Given the description of an element on the screen output the (x, y) to click on. 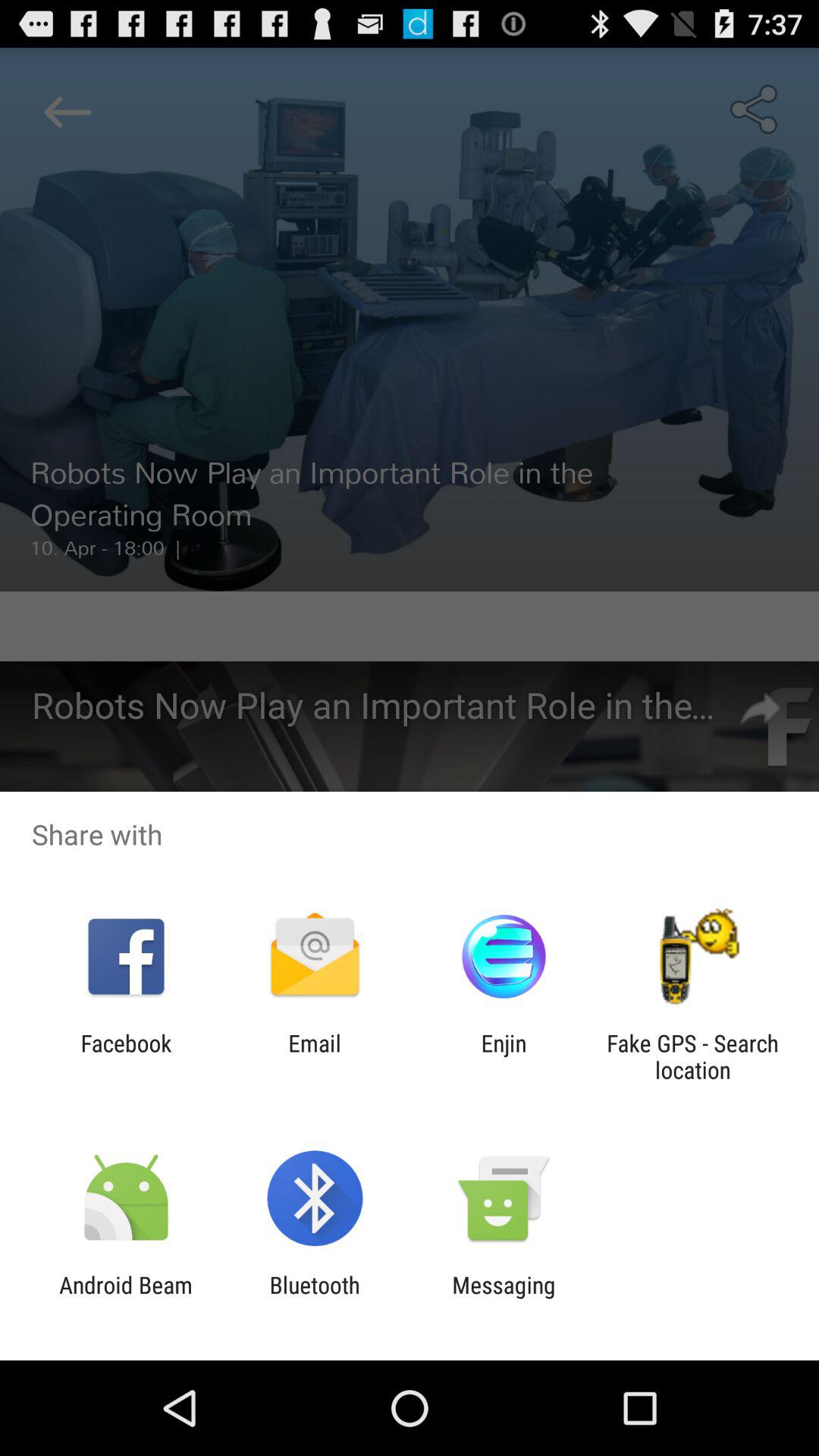
swipe to messaging app (503, 1298)
